Given the description of an element on the screen output the (x, y) to click on. 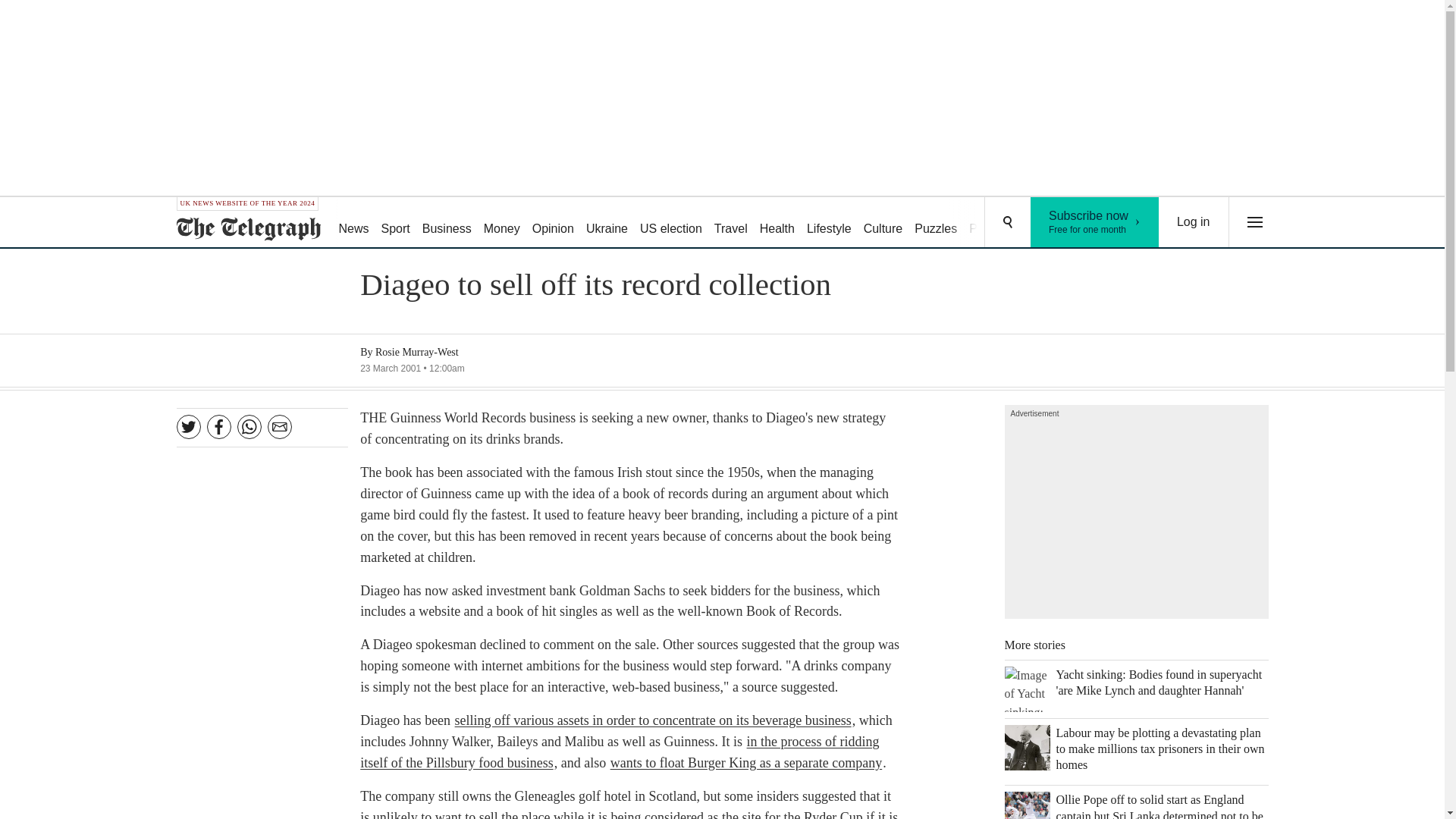
Business (446, 223)
Money (501, 223)
Ukraine (606, 223)
Opinion (552, 223)
US election (670, 223)
Log in (1193, 222)
Culture (882, 223)
Podcasts (1094, 222)
Travel (993, 223)
